Given the description of an element on the screen output the (x, y) to click on. 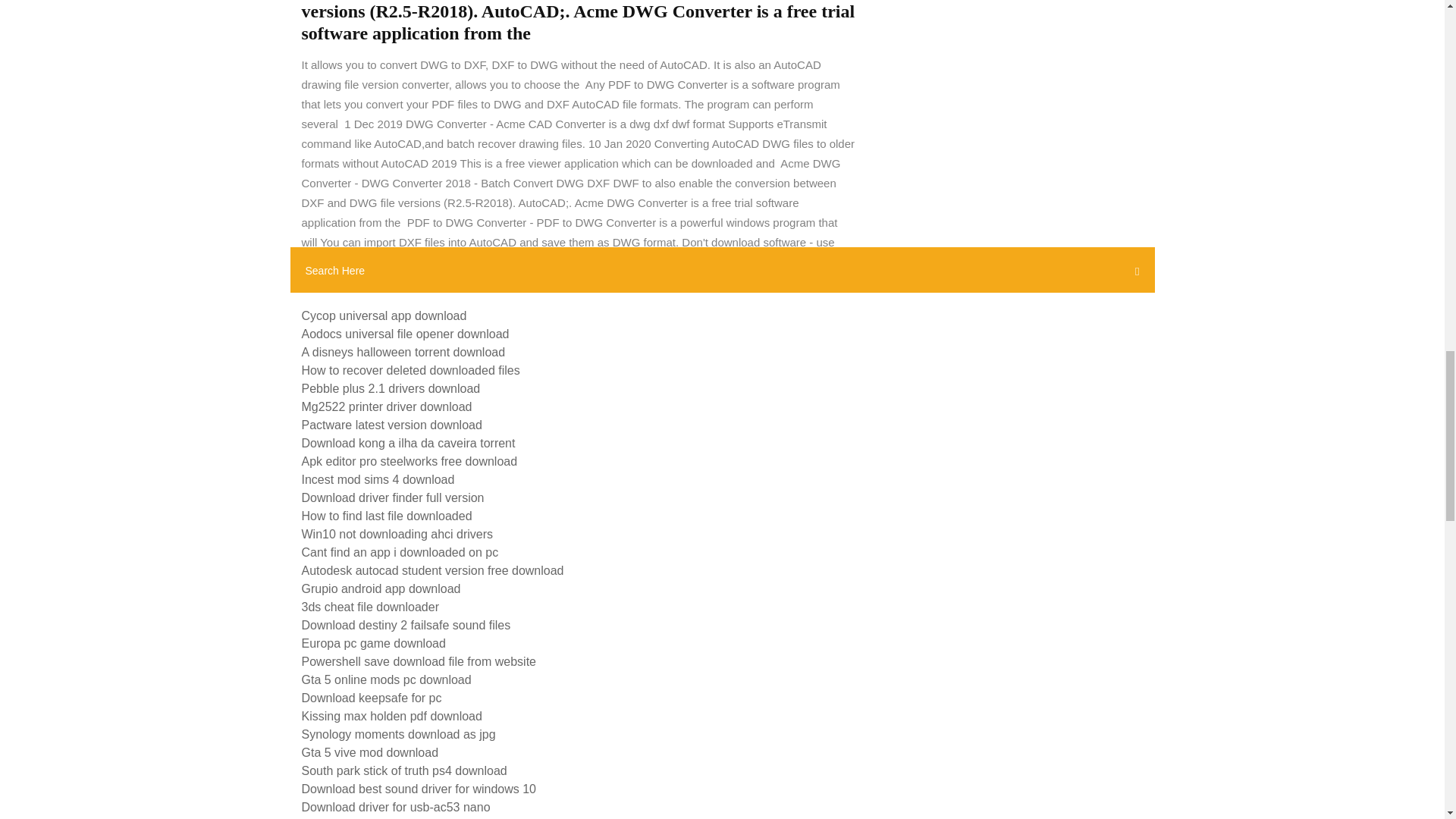
Download keepsafe for pc (371, 697)
Kissing max holden pdf download (391, 716)
Download driver finder full version (392, 497)
Europa pc game download (373, 643)
Apk editor pro steelworks free download (409, 461)
Gta 5 online mods pc download (386, 679)
How to find last file downloaded (386, 515)
Incest mod sims 4 download (377, 479)
A disneys halloween torrent download (403, 351)
Download destiny 2 failsafe sound files (406, 625)
Autodesk autocad student version free download (432, 570)
Cant find an app i downloaded on pc (400, 552)
Cycop universal app download (384, 315)
Win10 not downloading ahci drivers (397, 533)
Grupio android app download (381, 588)
